Given the description of an element on the screen output the (x, y) to click on. 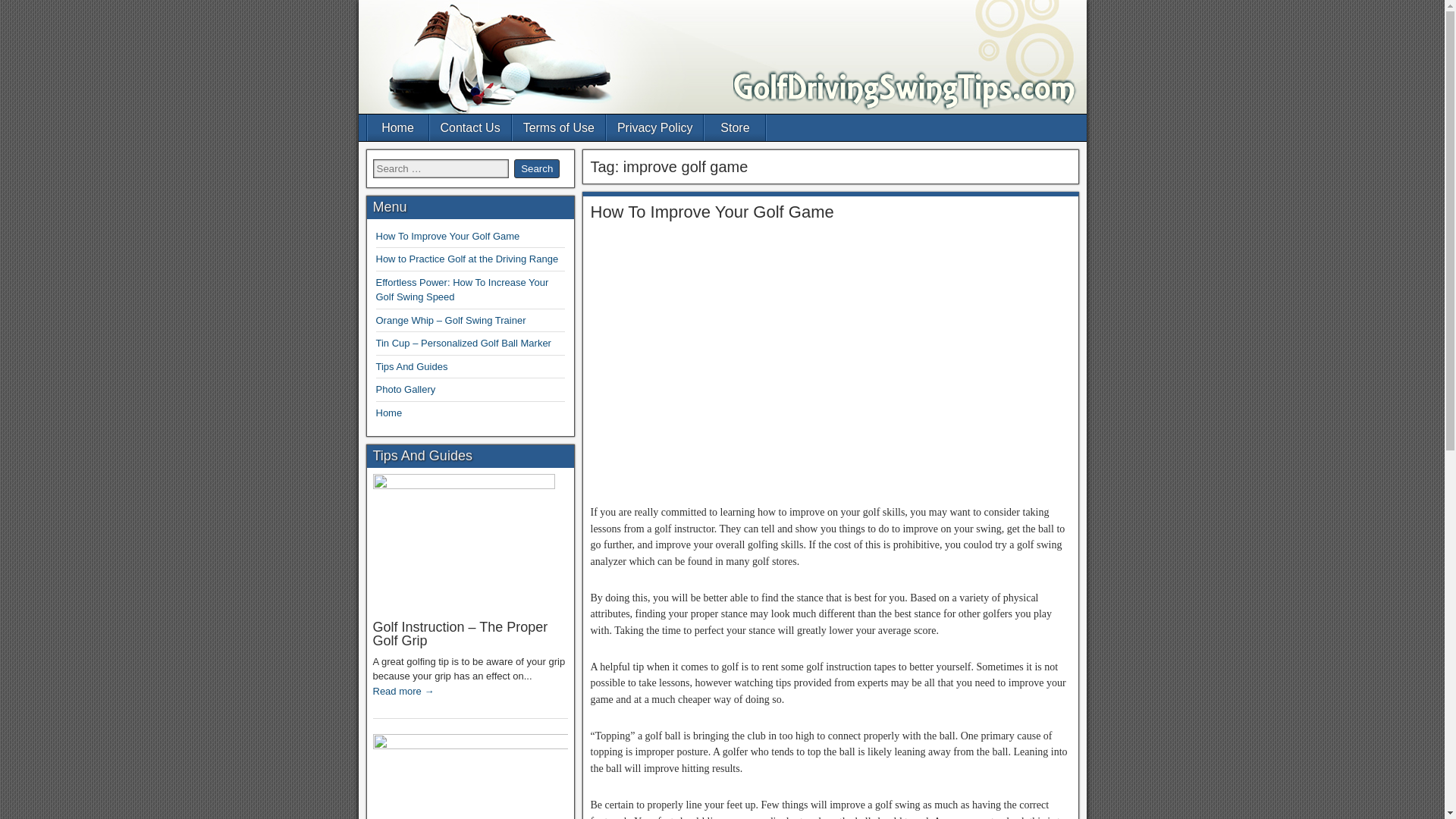
Store (734, 127)
Effortless Power: How To Increase Your Golf Swing Speed (461, 289)
Photo Gallery (405, 389)
Home (397, 127)
Home (389, 412)
Search (536, 168)
How To Improve Your Golf Game (710, 211)
How To Improve Your Golf Game (447, 235)
Search (536, 168)
Privacy Policy (655, 127)
Contact Us (470, 127)
How to Practice Golf at the Driving Range (467, 258)
Tips And Guides (411, 366)
Terms of Use (558, 127)
Search (536, 168)
